Given the description of an element on the screen output the (x, y) to click on. 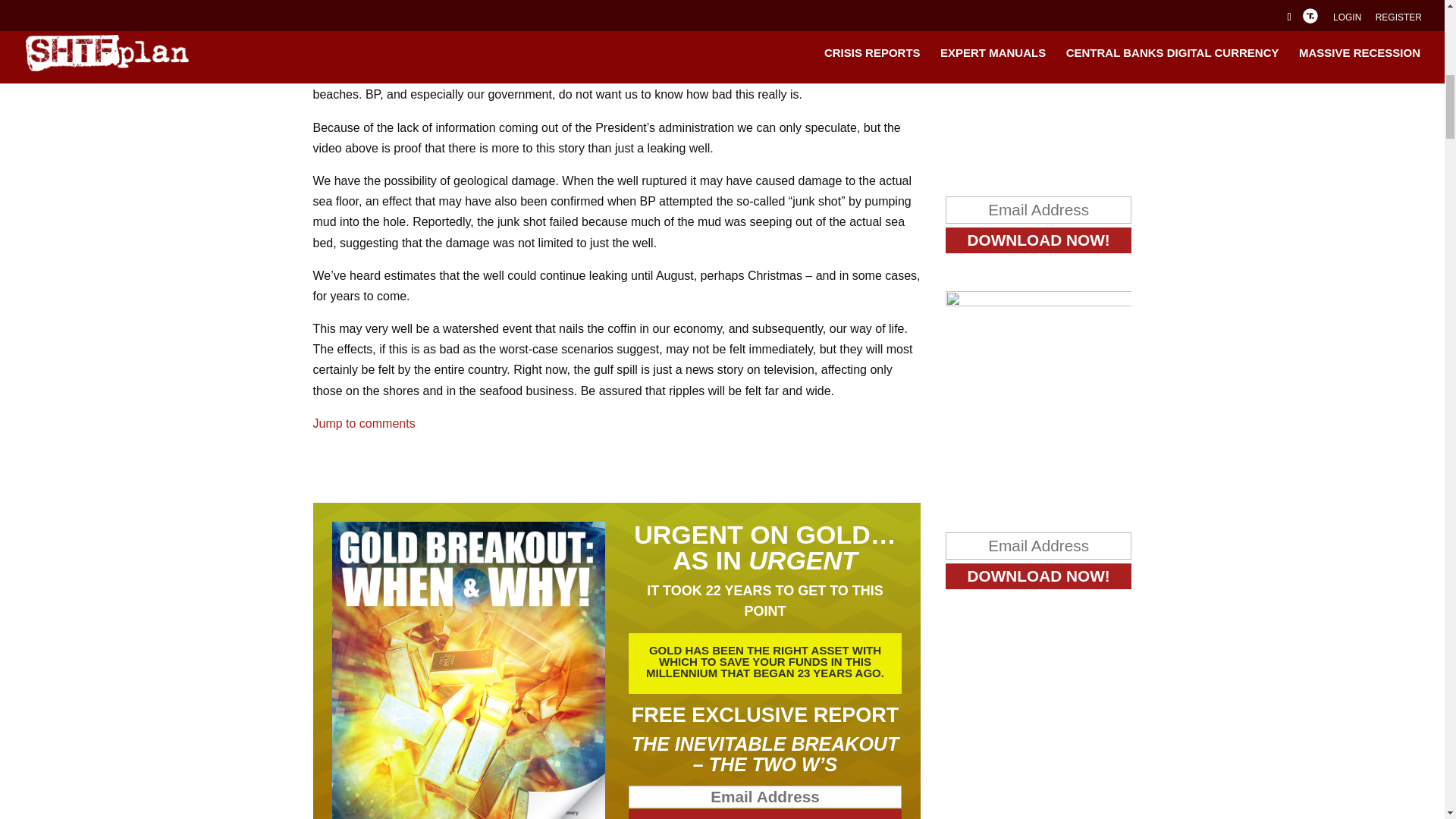
Subscribe Now! (765, 814)
Gold-Breakout-cf (468, 670)
Jump to comments (363, 422)
Subscribe Now! (765, 814)
Download Now! (1038, 240)
Download Now! (1038, 575)
media blackout (663, 73)
